Given the description of an element on the screen output the (x, y) to click on. 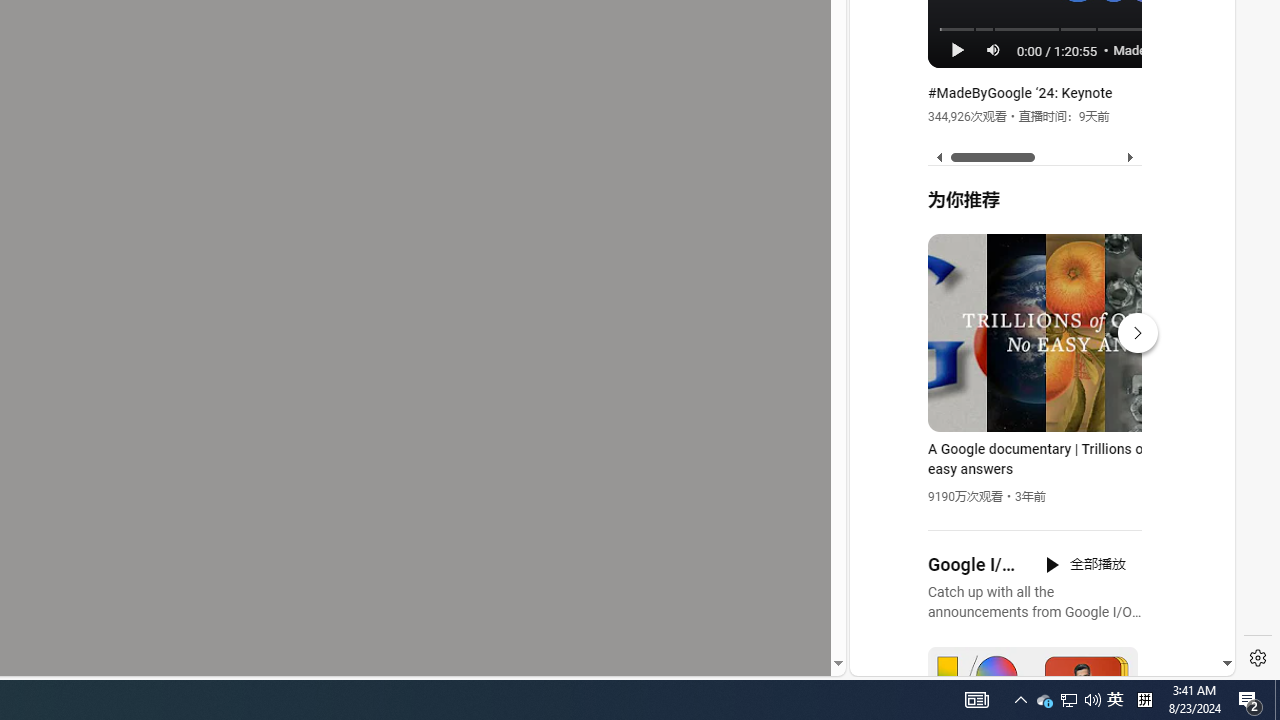
YouTube (1034, 432)
Class: dict_pnIcon rms_img (1028, 660)
you (1034, 609)
Google I/O 2024 (974, 565)
MadeByGoogle '24: Intro (1166, 49)
Global web icon (888, 432)
#you (1034, 439)
